Given the description of an element on the screen output the (x, y) to click on. 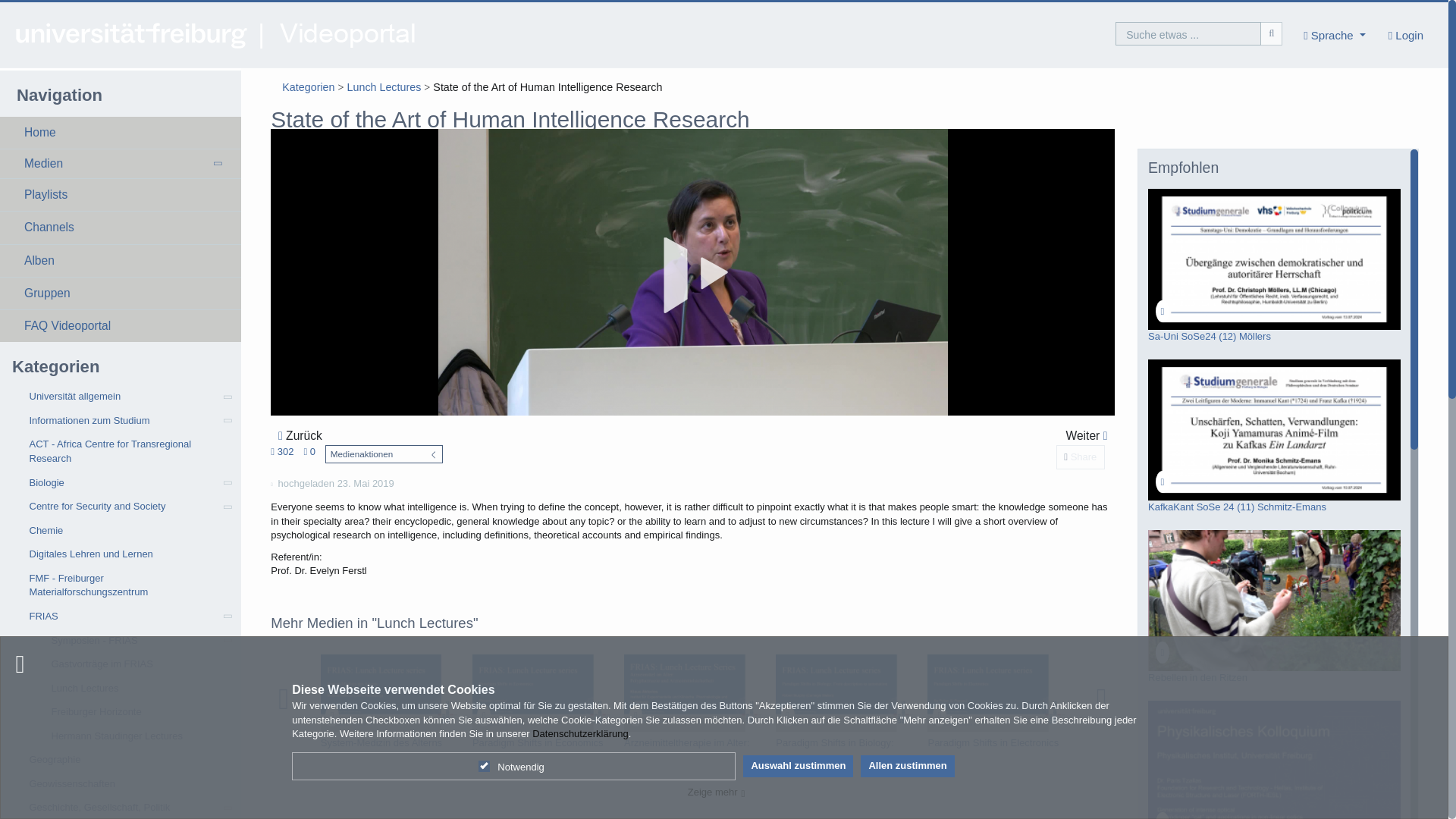
Settings (1334, 35)
Sprache (1334, 35)
Zeige mehr (714, 794)
on (484, 766)
Allen zustimmen (906, 766)
Auswahl zustimmen (797, 766)
Login (1406, 34)
